Given the description of an element on the screen output the (x, y) to click on. 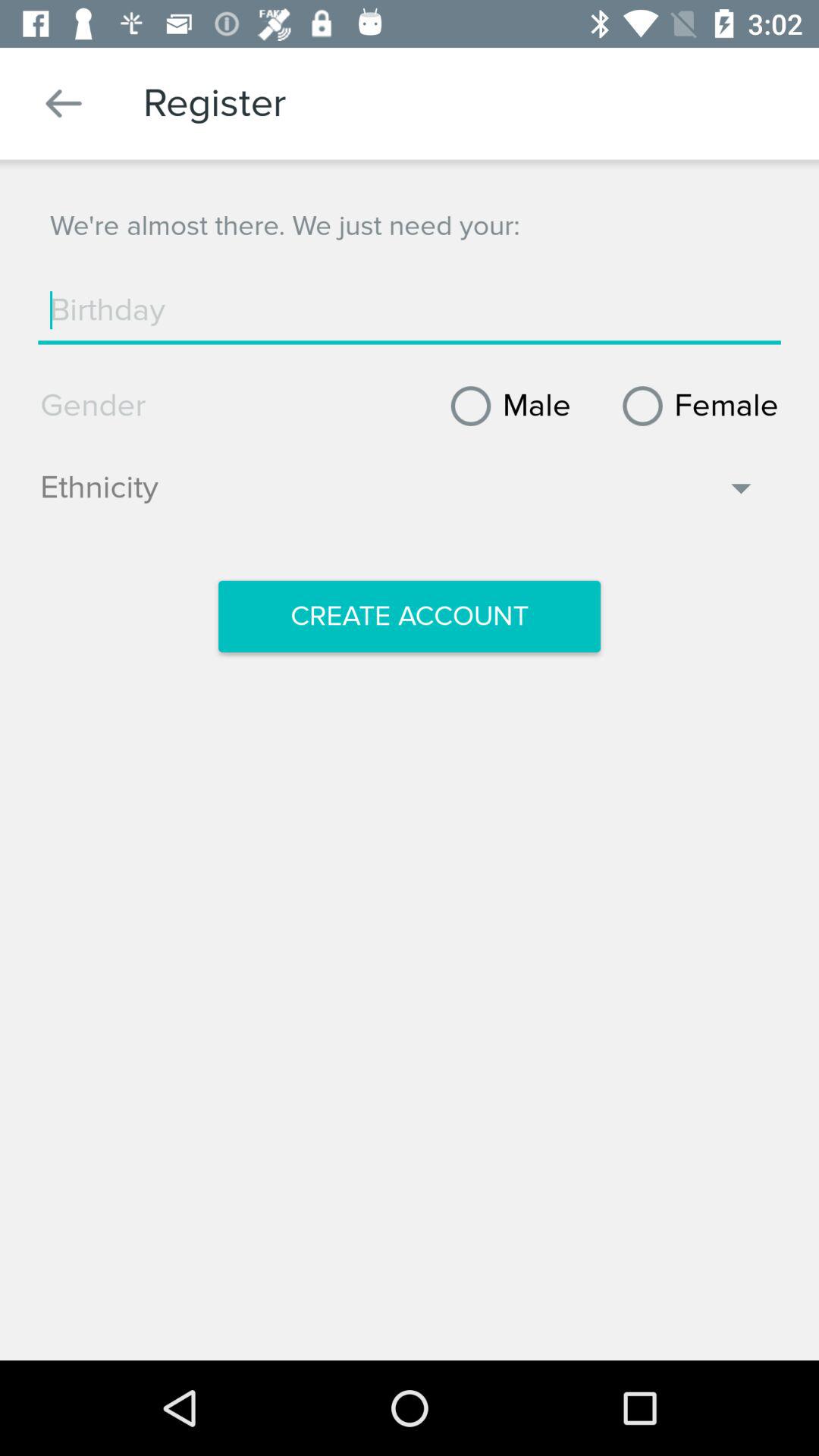
select item to the left of female (505, 405)
